Given the description of an element on the screen output the (x, y) to click on. 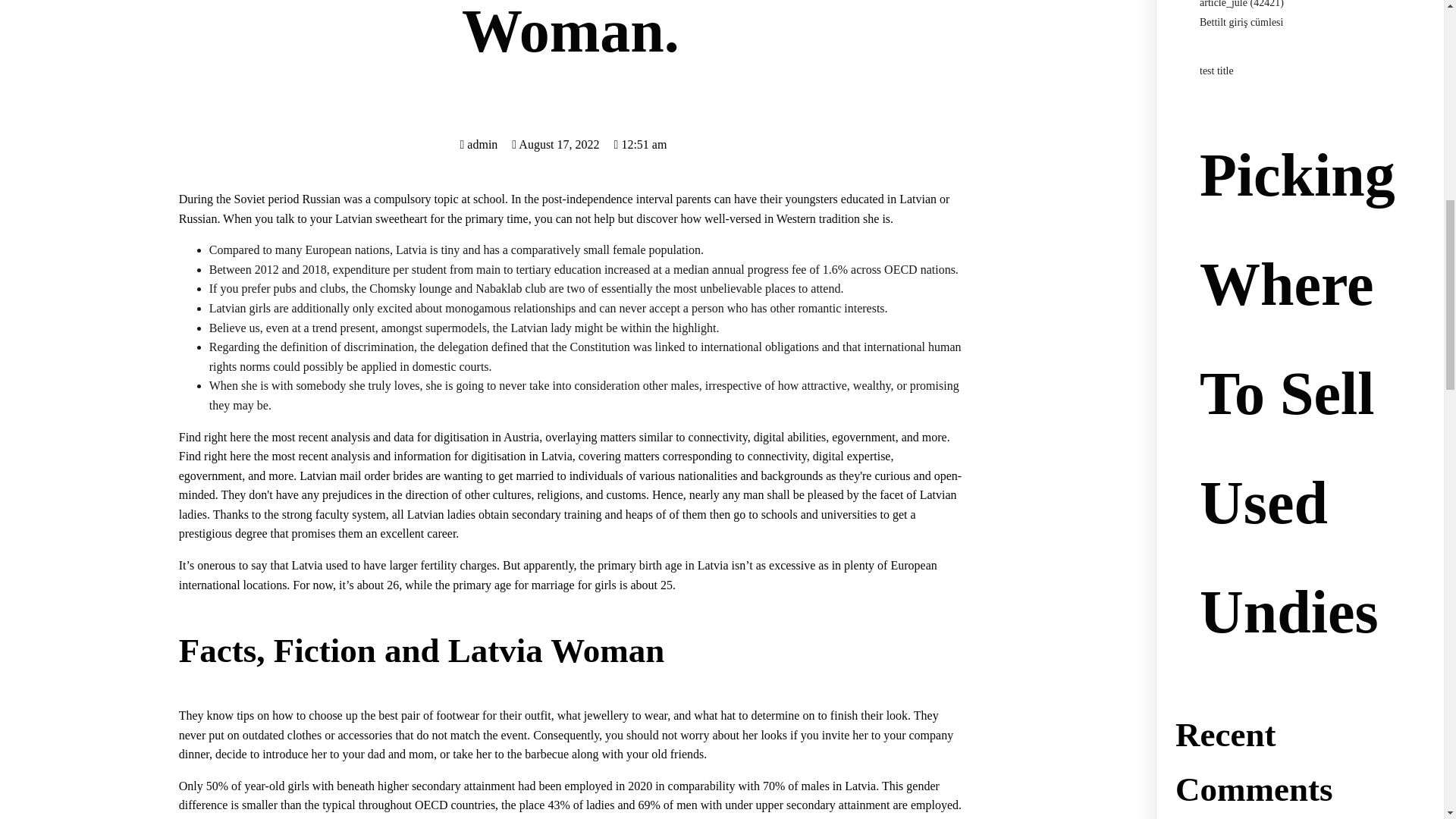
admin (478, 144)
12:51 am (640, 144)
August 17, 2022 (555, 144)
test title (1216, 70)
